Given the description of an element on the screen output the (x, y) to click on. 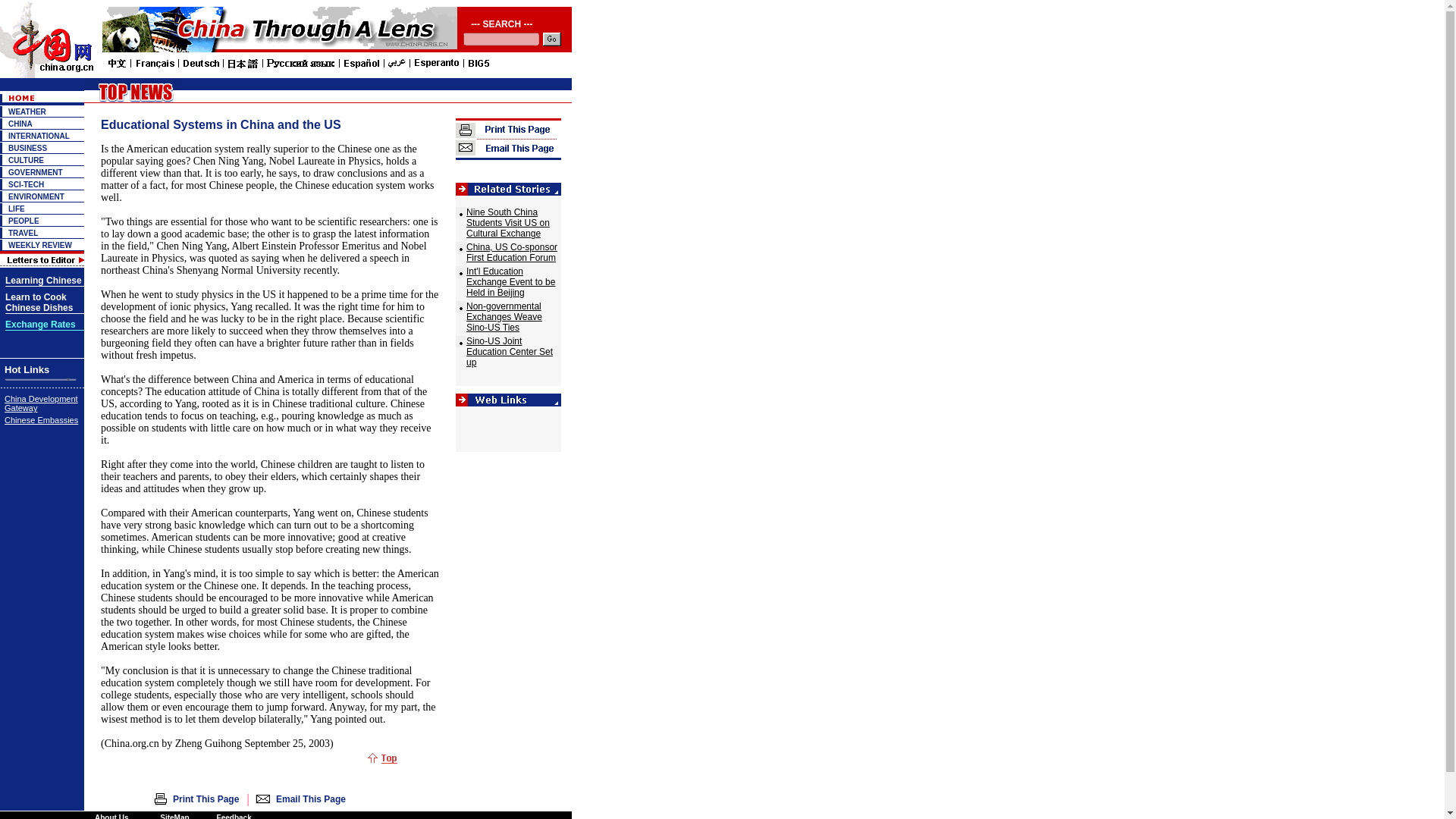
Learn to Cook Chinese Dishes (38, 302)
Email This Page (311, 798)
PEOPLE (23, 221)
WEATHER (27, 111)
CHINA (20, 123)
Sino-US Joint Education Center Set up (509, 351)
Learning Chinese (43, 280)
SCI-TECH (25, 184)
Non-governmental Exchanges Weave Sino-US Ties (503, 316)
TRAVEL (22, 233)
